Given the description of an element on the screen output the (x, y) to click on. 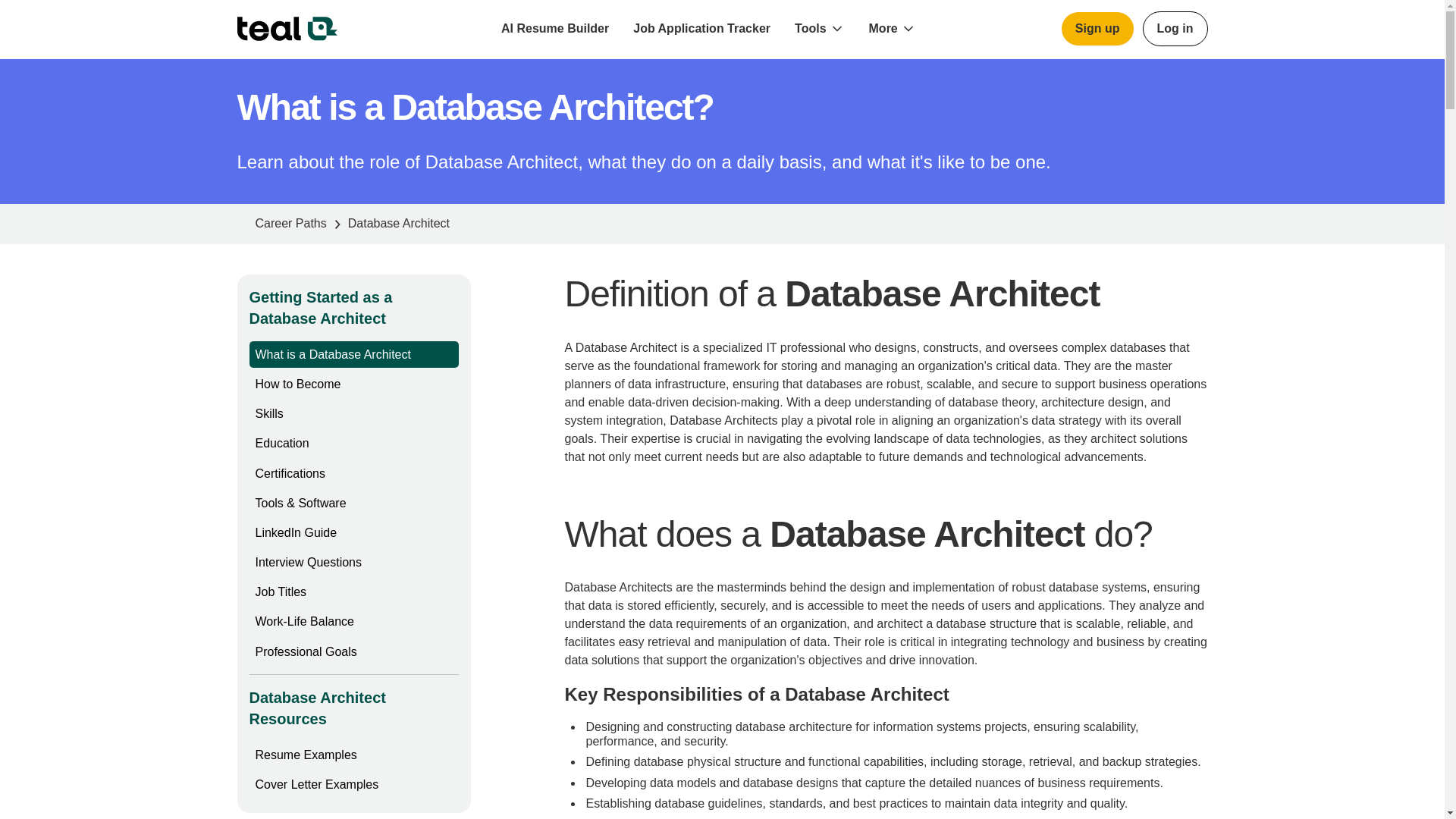
Job Application Tracker (702, 29)
Professional Goals (305, 651)
What is a Database Architect (332, 354)
AI Resume Builder (555, 29)
Work-Life Balance (303, 621)
Tools (809, 28)
Certifications (289, 472)
Career Paths (290, 223)
Skills (268, 413)
Log in (1175, 28)
